Given the description of an element on the screen output the (x, y) to click on. 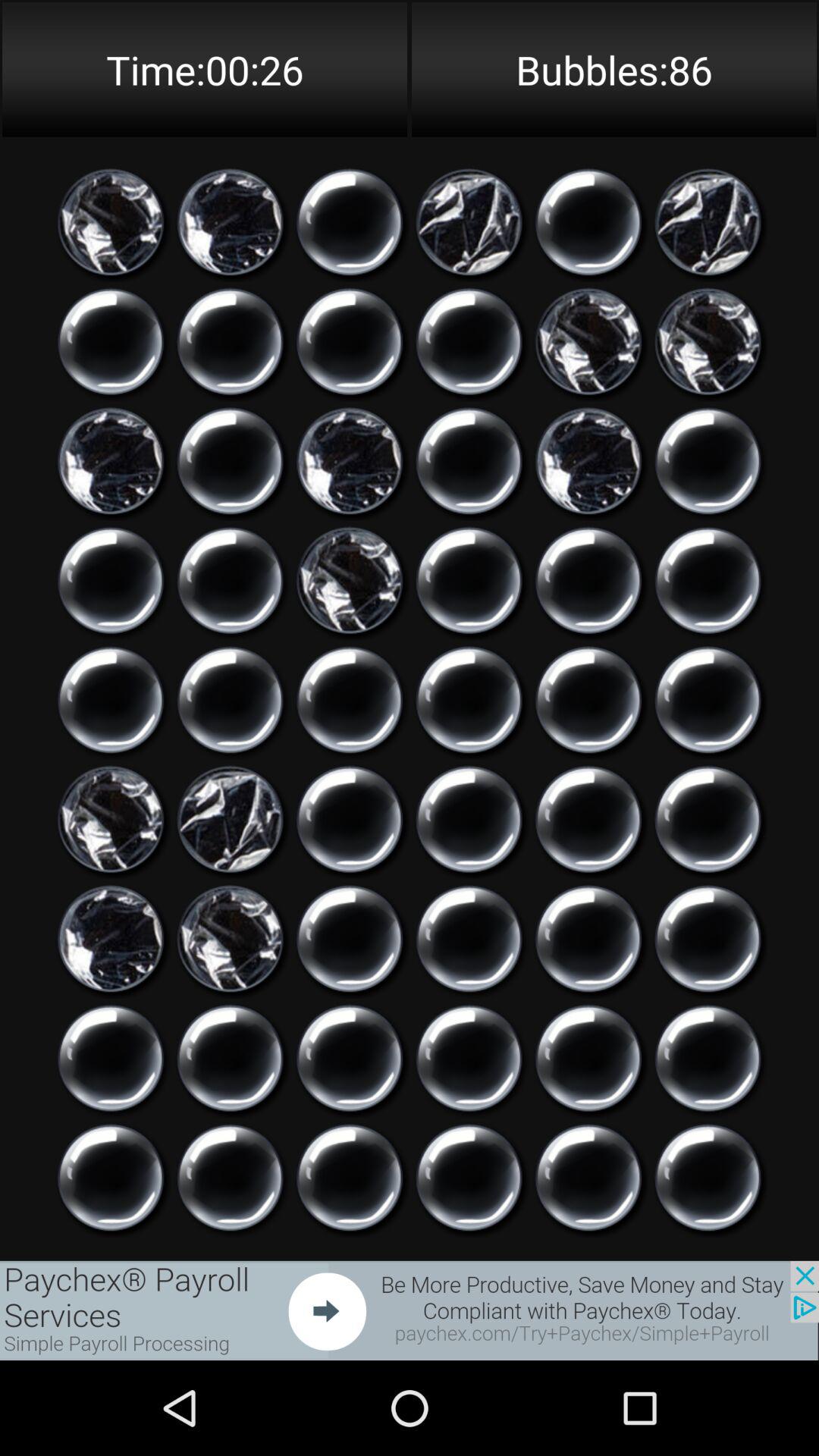
this button is uesd for games (349, 460)
